Given the description of an element on the screen output the (x, y) to click on. 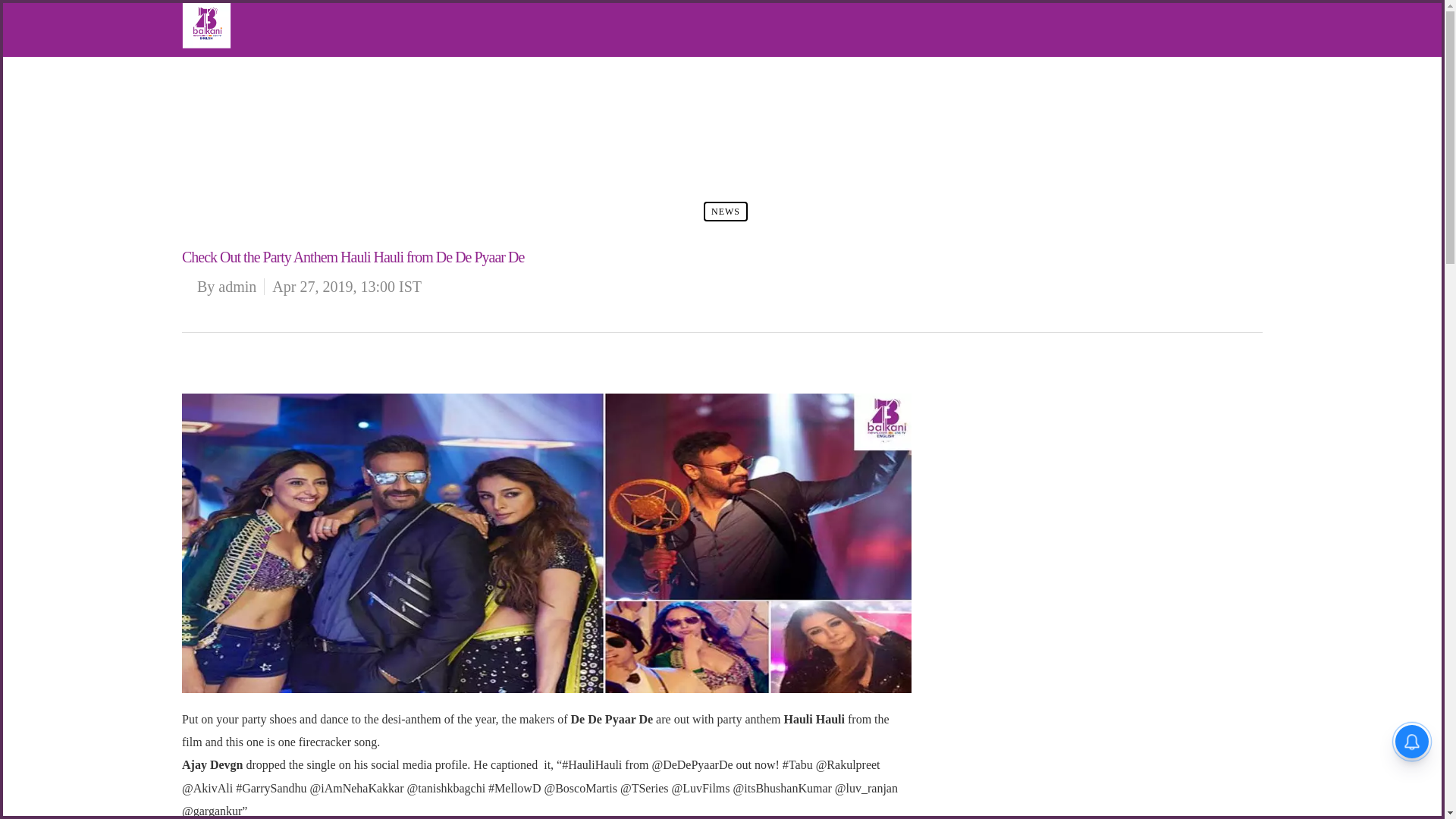
SEARCH (234, 182)
NEWS (725, 211)
HOME (229, 68)
FROM-BALKANI (253, 114)
LIFESTYLE (241, 136)
LANGUAGE (242, 159)
NEWS (229, 91)
